Given the description of an element on the screen output the (x, y) to click on. 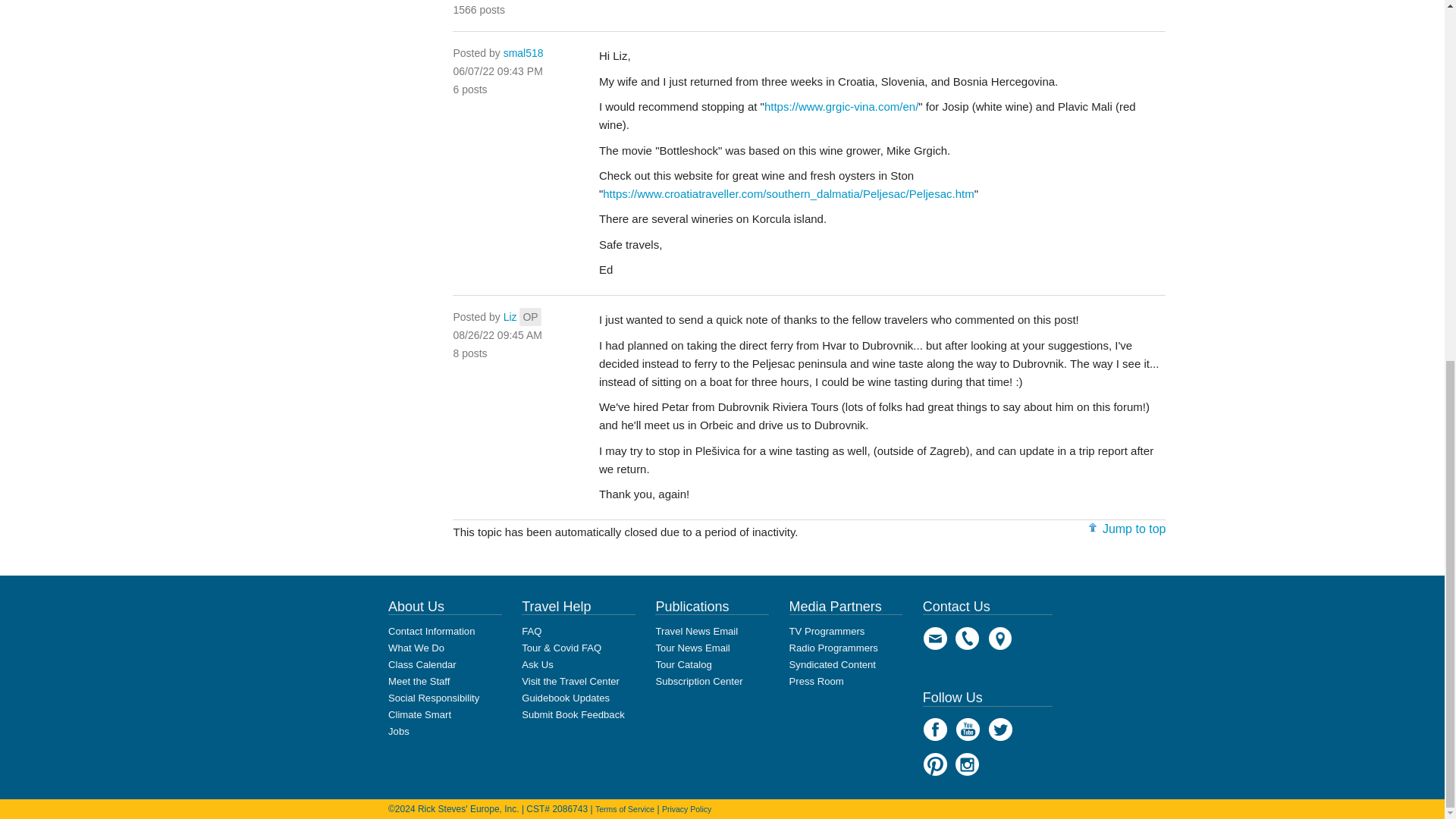
smal518 (523, 52)
Reply: 1929024 (496, 70)
smal518 (523, 52)
